Given the description of an element on the screen output the (x, y) to click on. 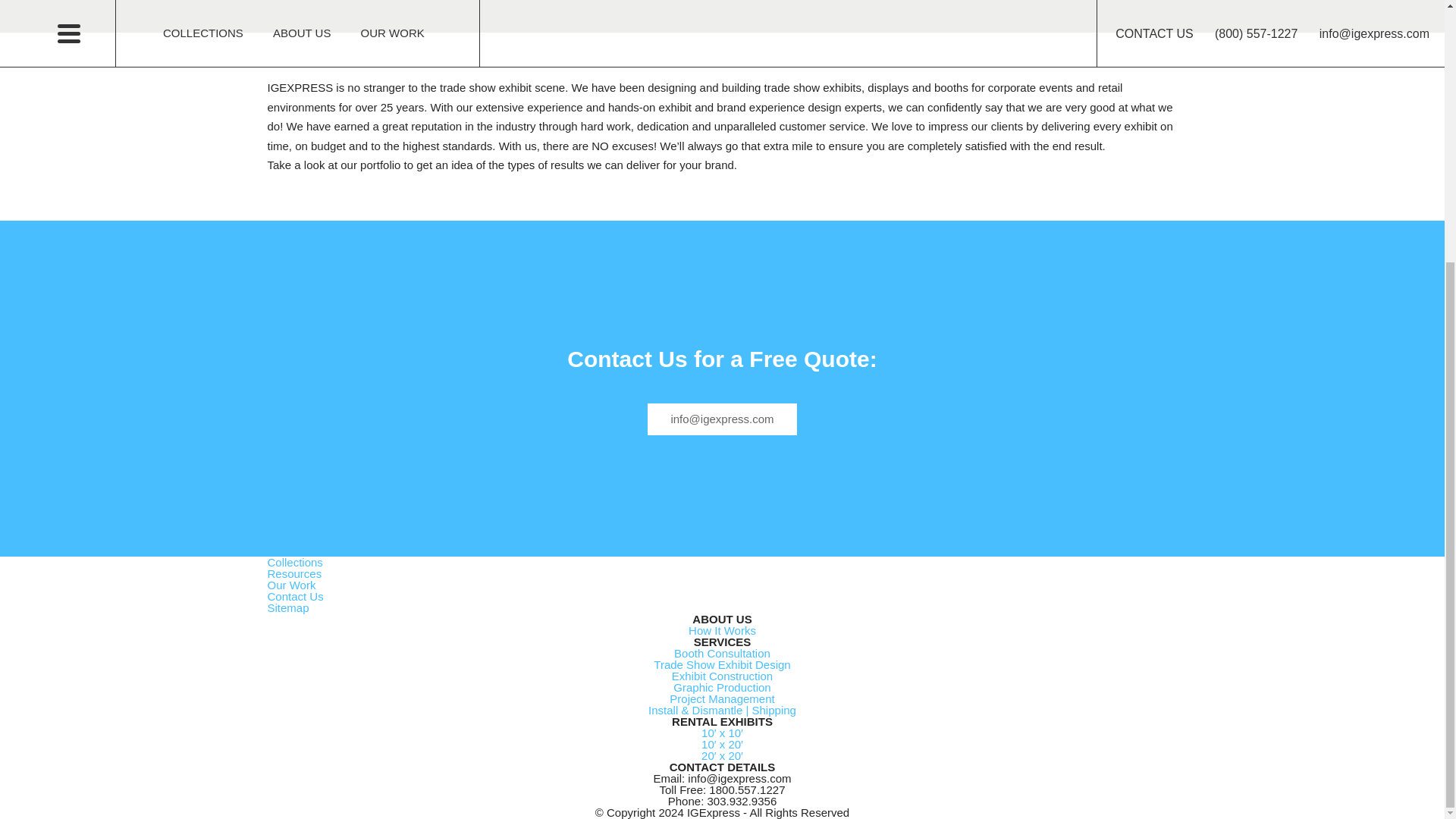
Our Work (290, 584)
Collections (293, 562)
Resources (293, 573)
